Given the description of an element on the screen output the (x, y) to click on. 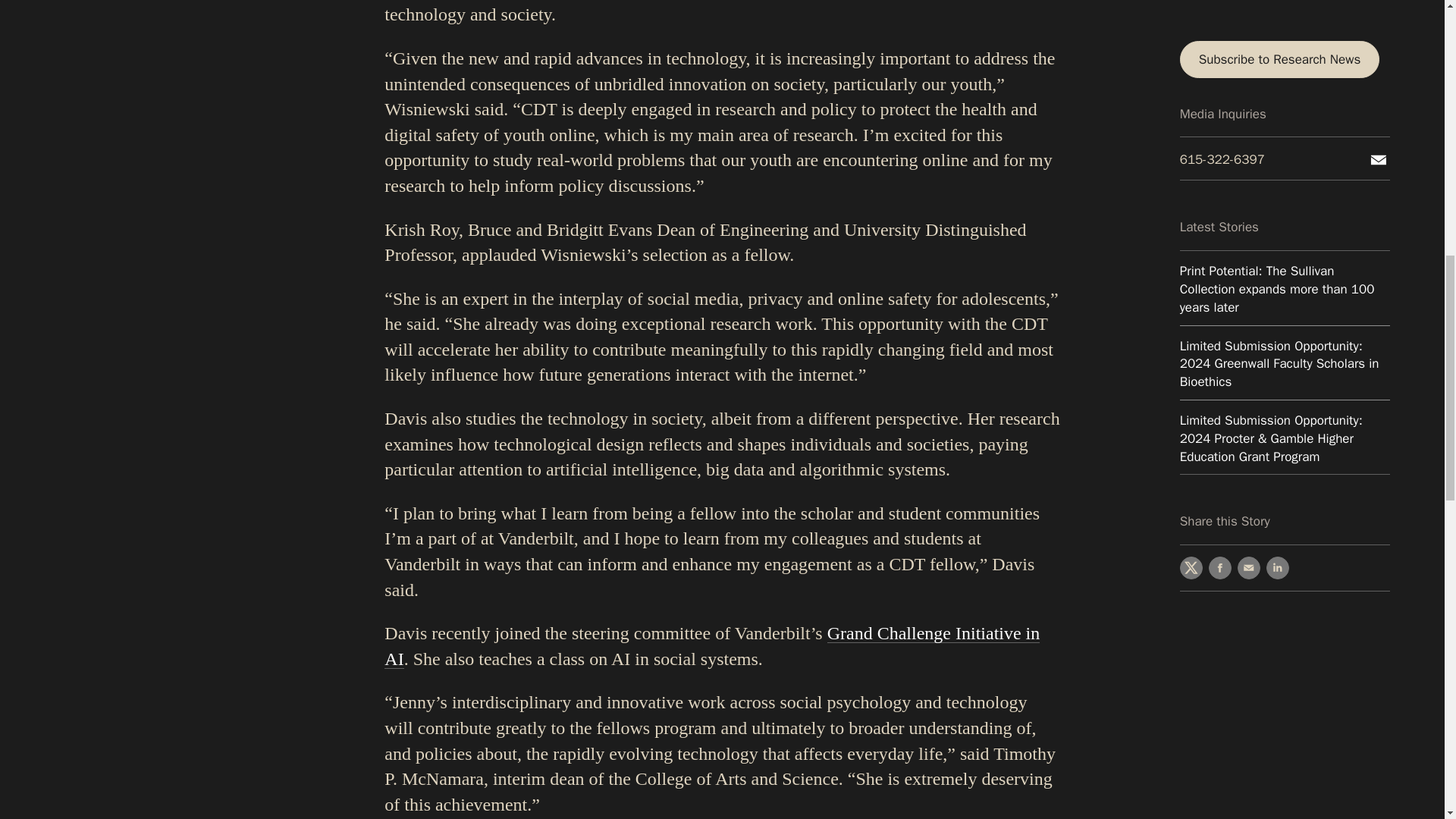
Grand Challenge Initiative in AI (711, 646)
LinkedIn (1277, 255)
Facebook (1219, 255)
Twitter (1190, 255)
Email (1248, 255)
